Given the description of an element on the screen output the (x, y) to click on. 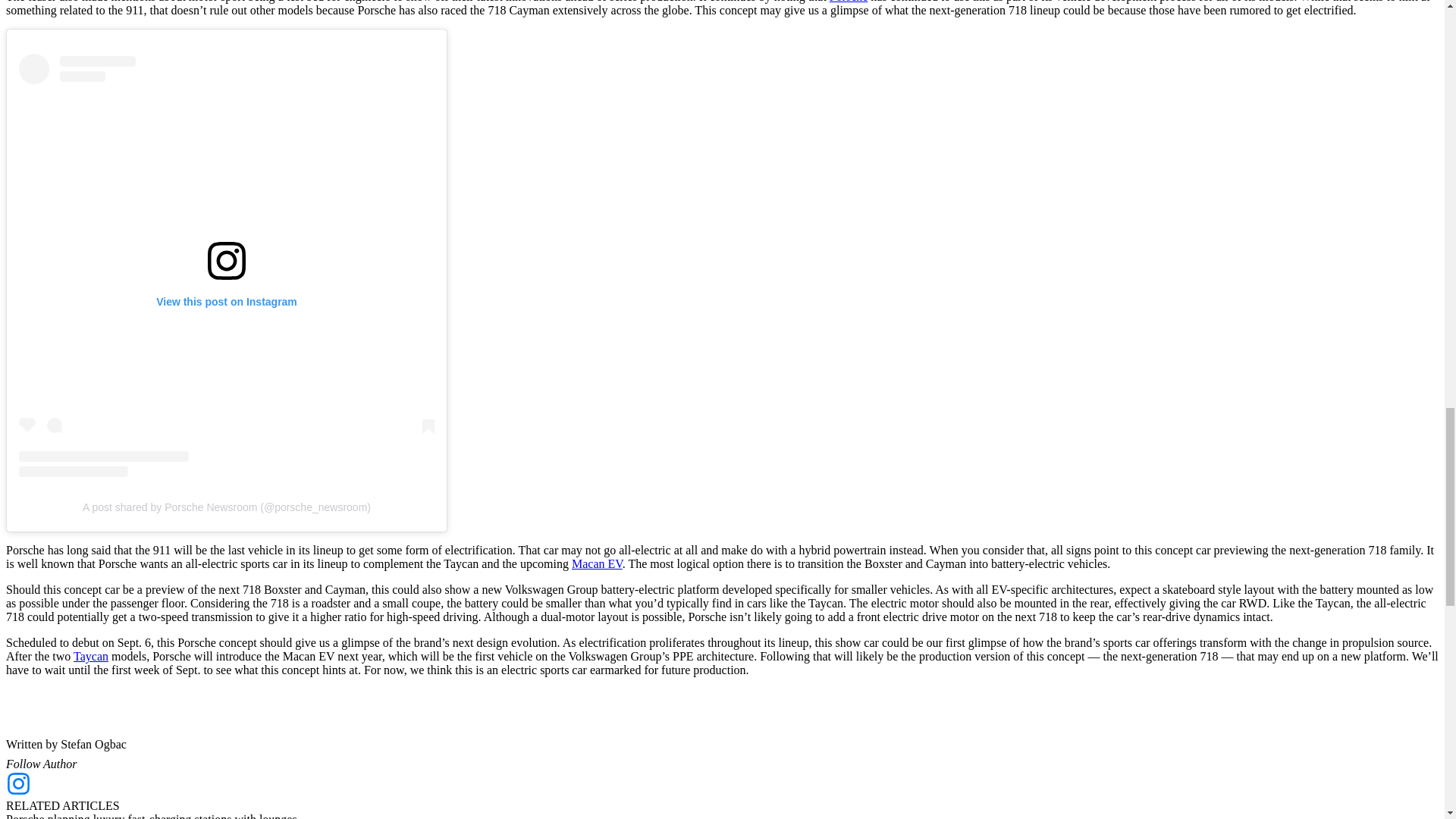
Porsche (848, 1)
Taycan (90, 656)
Macan EV (597, 563)
